Given the description of an element on the screen output the (x, y) to click on. 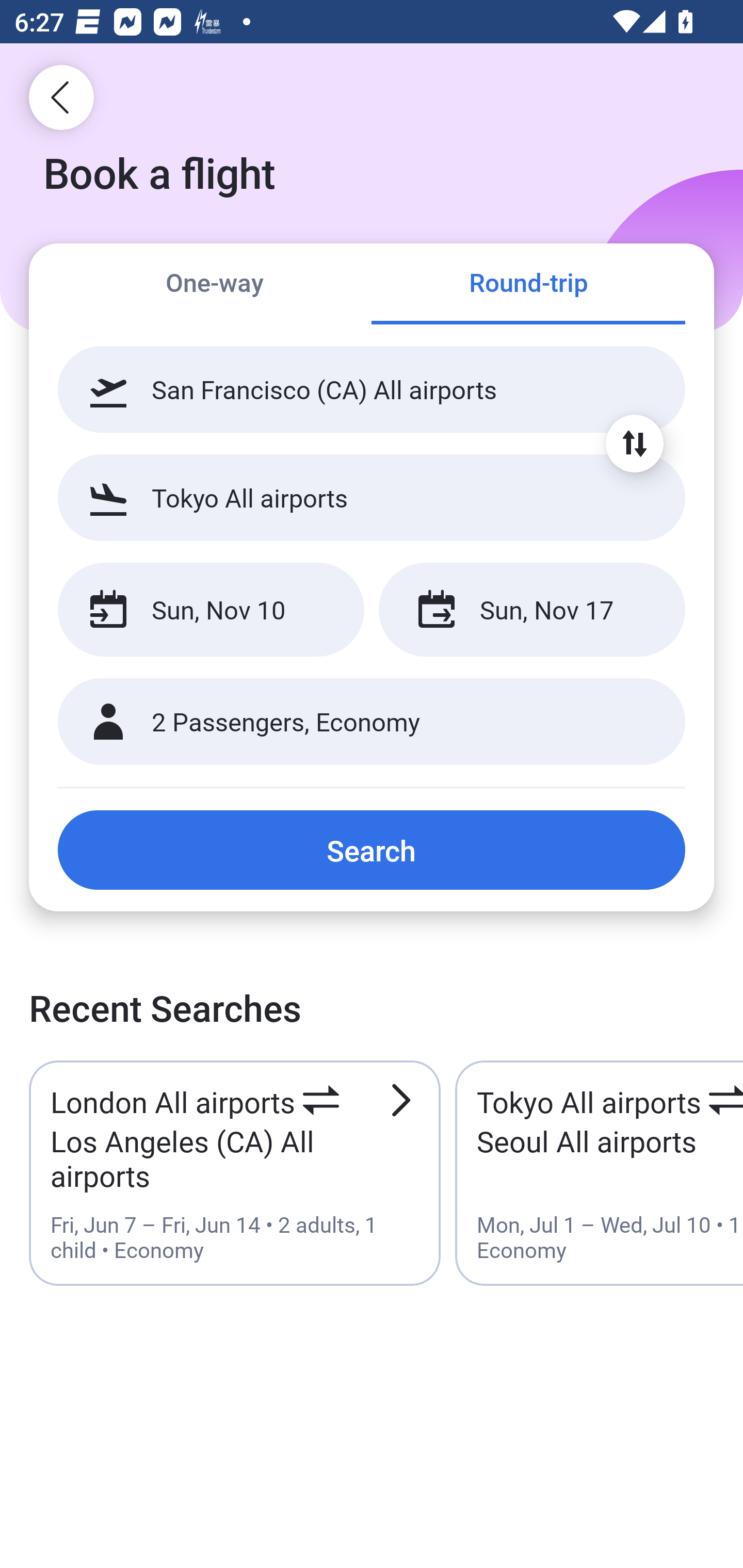
One-way (214, 284)
San Francisco (CA) All airports (371, 389)
Tokyo All airports (371, 497)
Sun, Nov 10 (210, 609)
Sun, Nov 17 (531, 609)
2 Passengers, Economy (371, 721)
Search (371, 849)
